Given the description of an element on the screen output the (x, y) to click on. 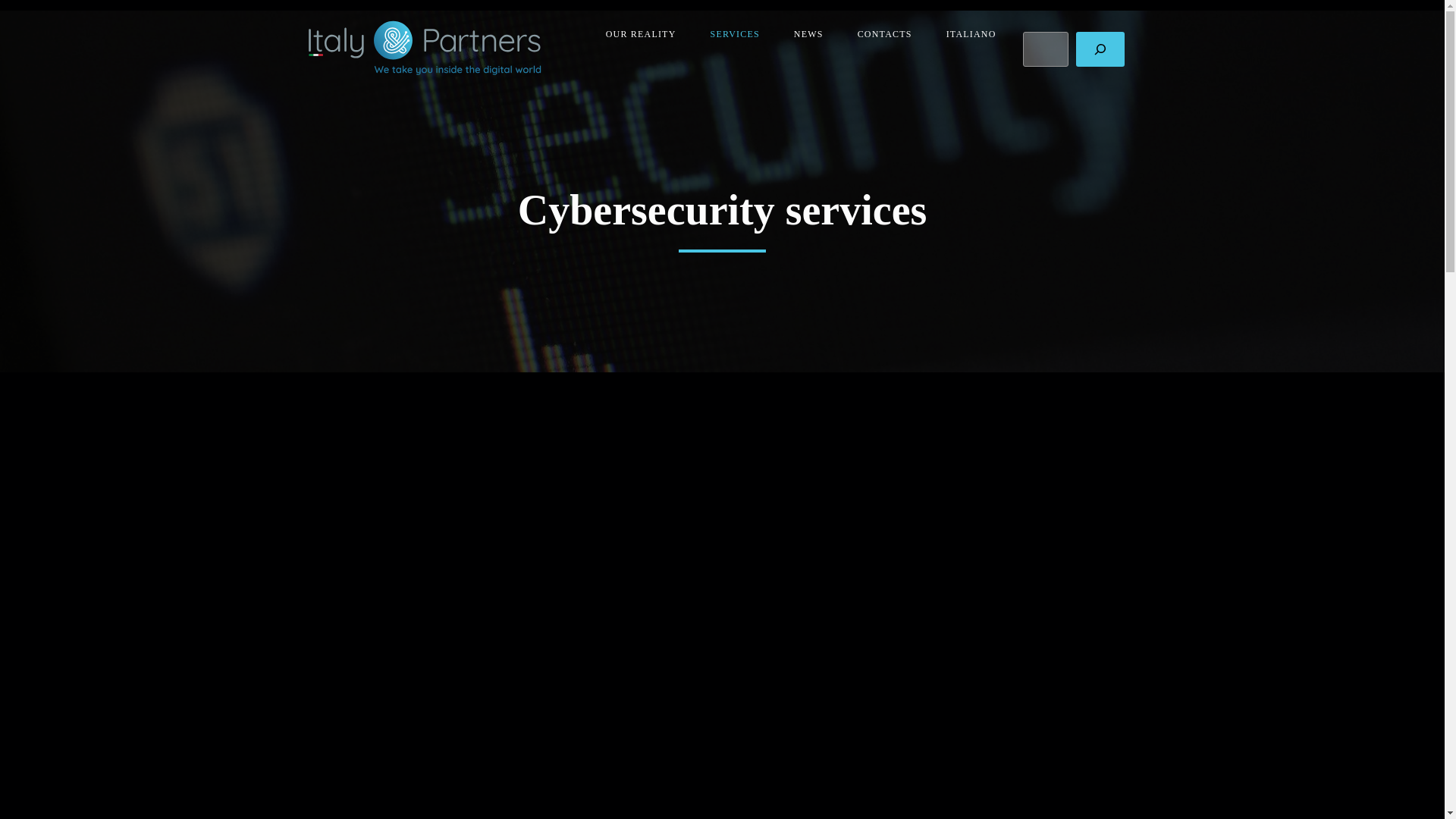
OUR REALITY (635, 34)
CONTACTS (878, 34)
ITALIANO (965, 34)
SERVICES (729, 34)
NEWS (802, 34)
